Given the description of an element on the screen output the (x, y) to click on. 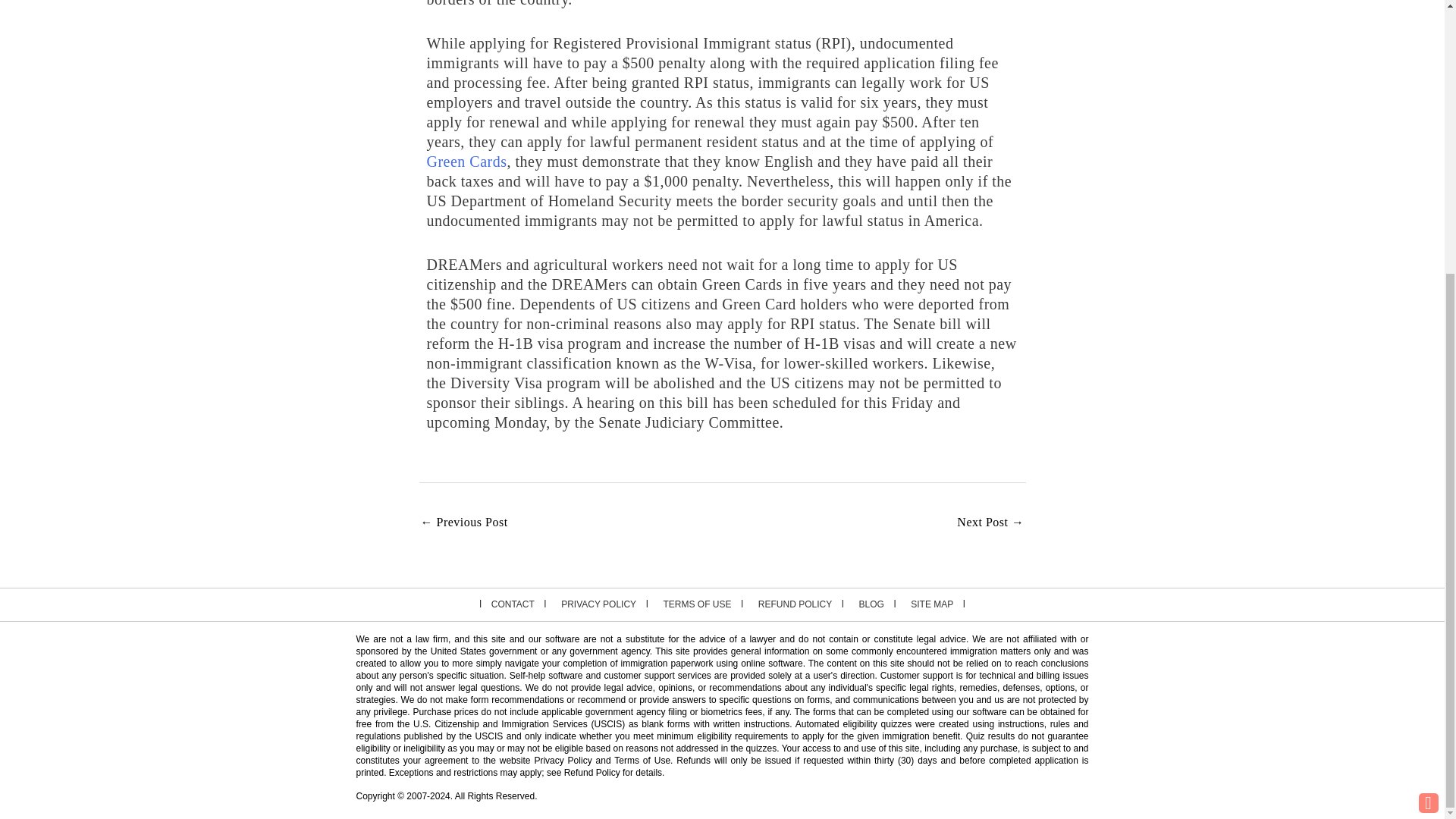
Green Card Application Online (466, 161)
2013 Immigration Reform Bill Announced (989, 523)
Is Medical Insurance Necessary while Visiting the US? (463, 523)
